Given the description of an element on the screen output the (x, y) to click on. 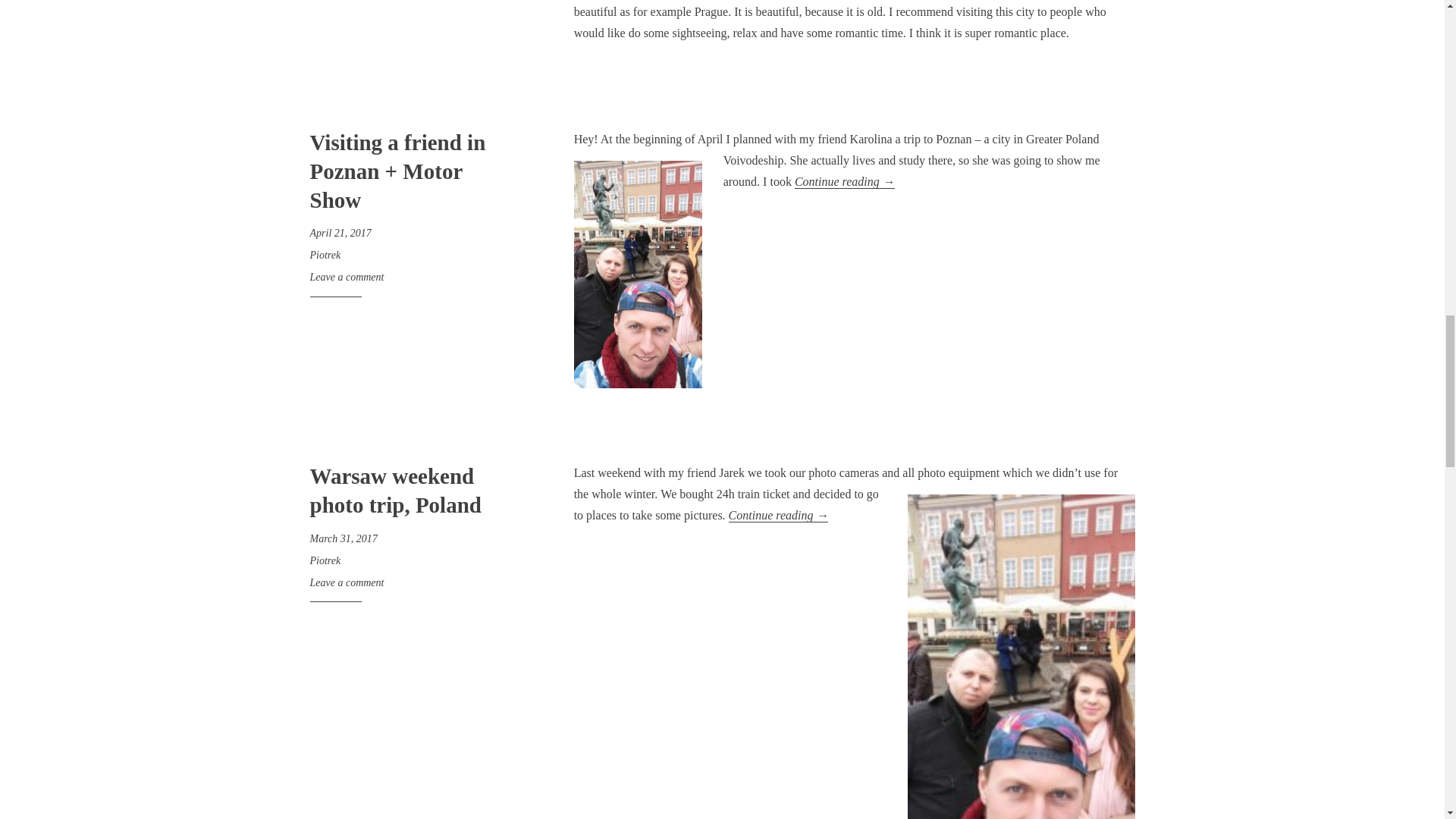
Leave a comment (346, 582)
Piotrek (324, 560)
Piotrek (324, 255)
Warsaw weekend photo trip, Poland (394, 490)
Leave a comment (346, 276)
April 21, 2017 (339, 233)
March 31, 2017 (342, 538)
